Given the description of an element on the screen output the (x, y) to click on. 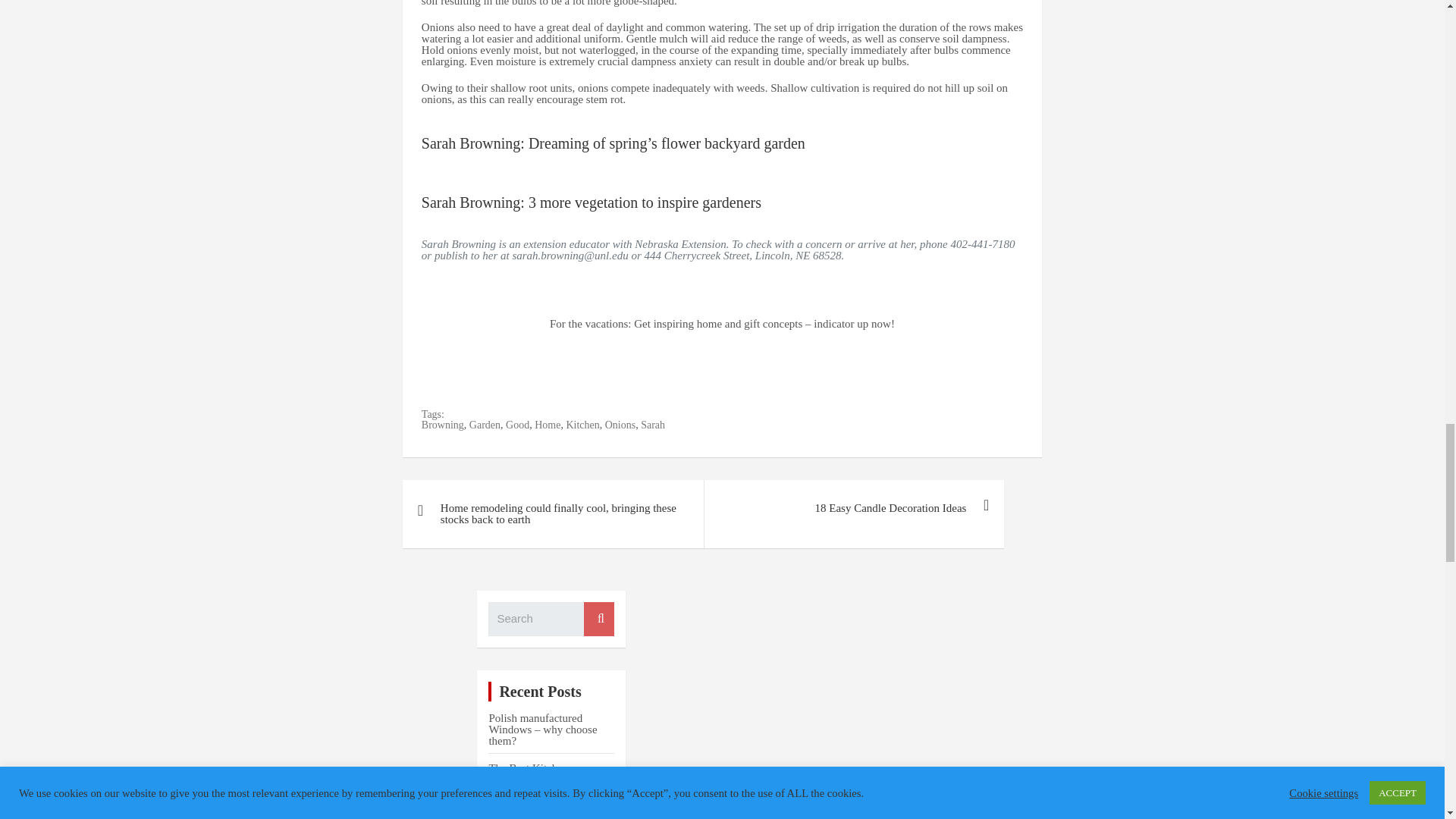
Kitchen (582, 424)
Good (517, 424)
Home (547, 424)
Onions (619, 424)
Browning (443, 424)
Tags: (543, 414)
Garden (484, 424)
